Given the description of an element on the screen output the (x, y) to click on. 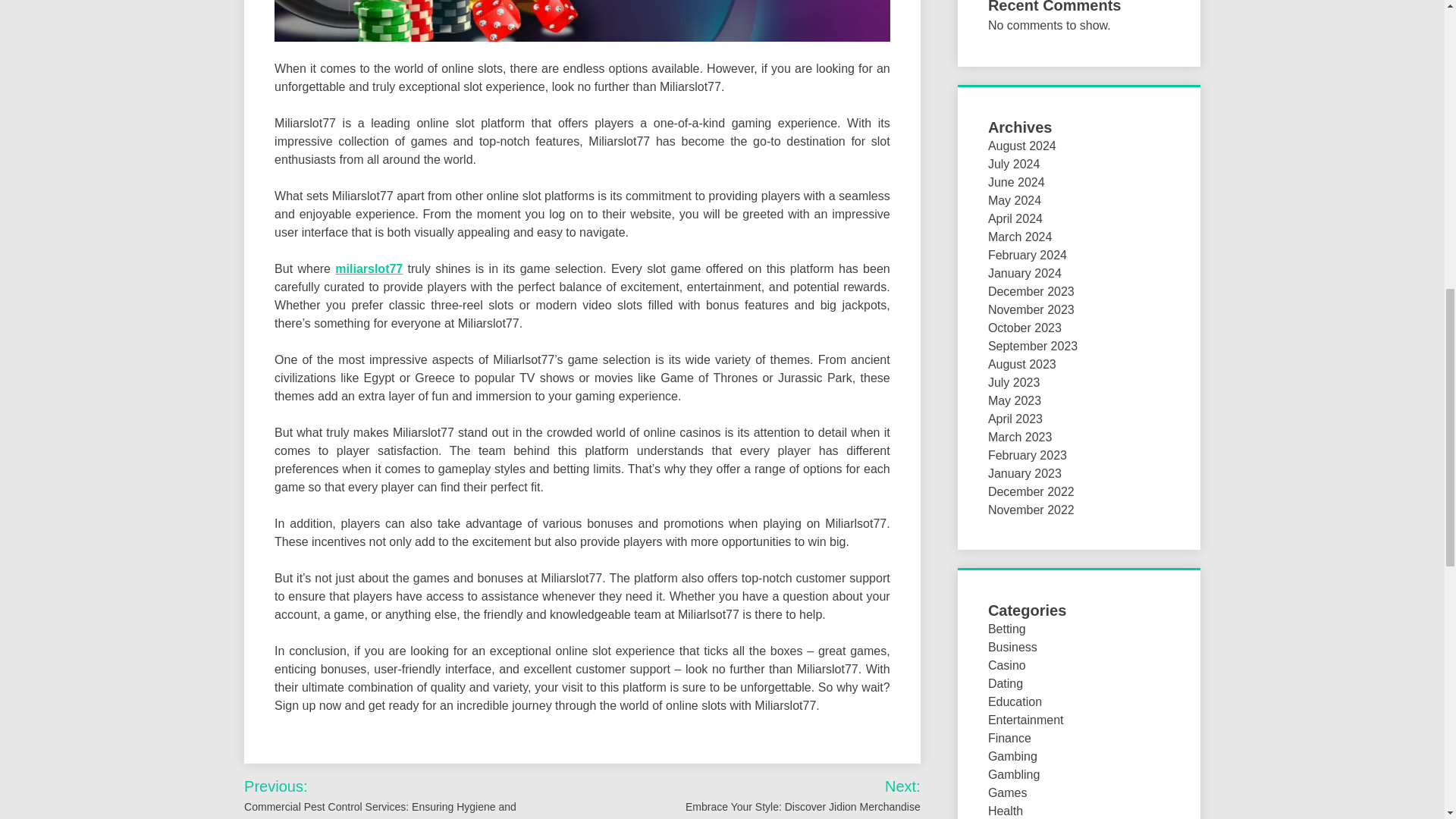
August 2024 (1022, 145)
March 2024 (1020, 236)
July 2024 (1014, 164)
May 2024 (1014, 200)
miliarslot77 (368, 268)
June 2024 (1016, 182)
Next: Embrace Your Style: Discover Jidion Merchandise (783, 794)
April 2024 (1015, 218)
